Given the description of an element on the screen output the (x, y) to click on. 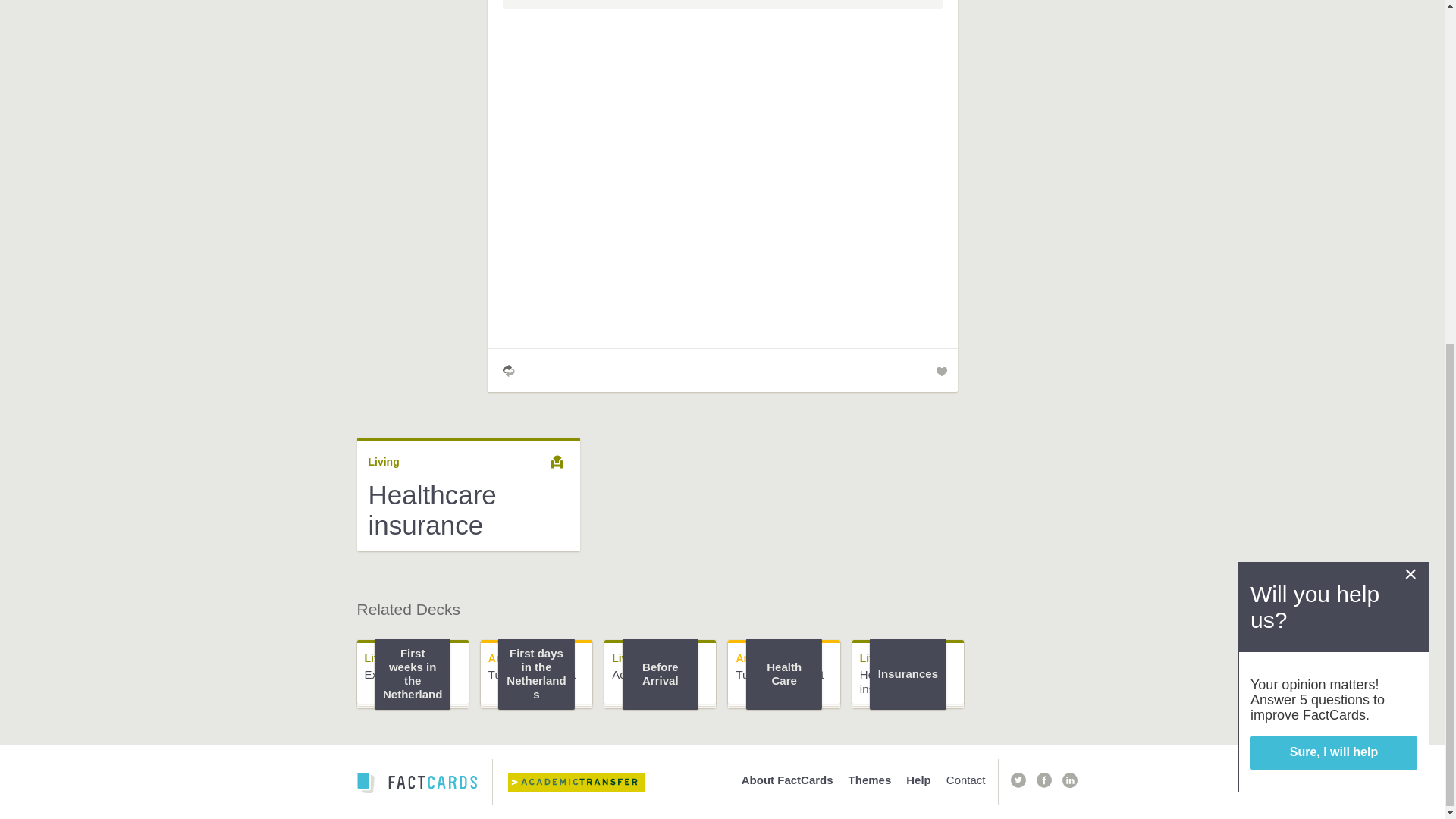
Open in new window (1017, 780)
Open in new window (631, 4)
Open in new window (587, 782)
Open in new window (1069, 780)
Open in new window (1043, 780)
